Given the description of an element on the screen output the (x, y) to click on. 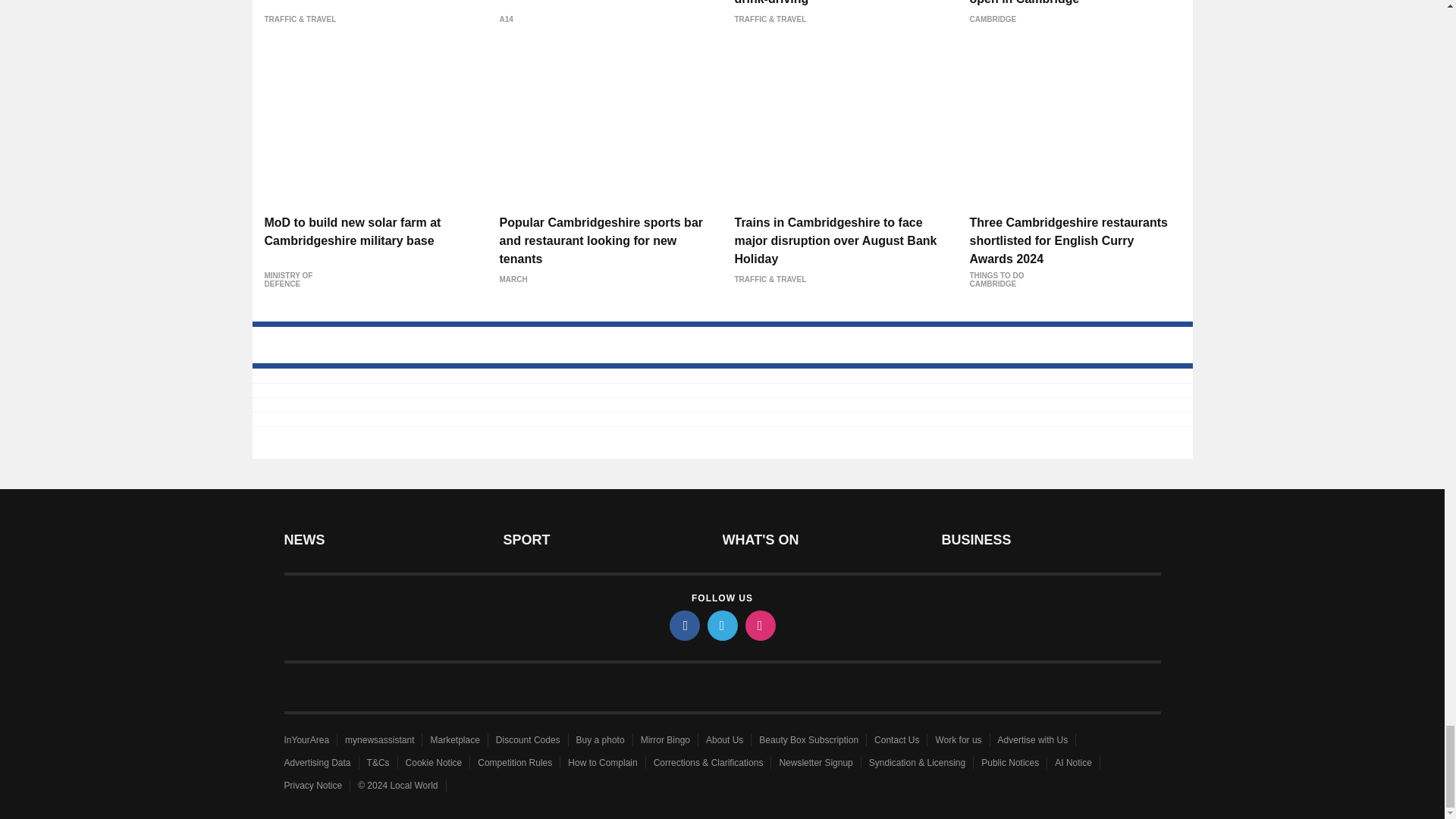
twitter (721, 625)
facebook (683, 625)
instagram (759, 625)
